Given the description of an element on the screen output the (x, y) to click on. 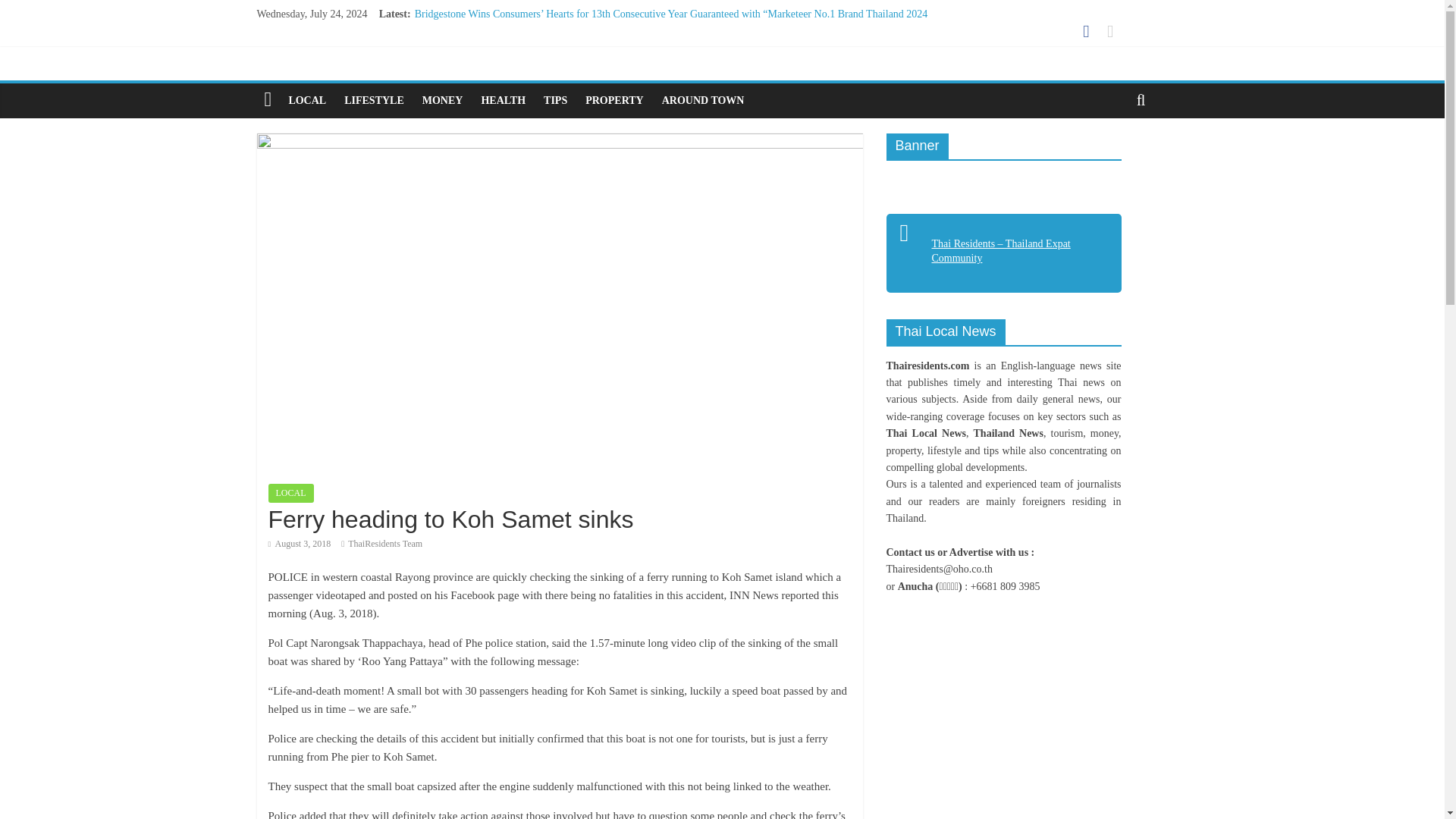
5:03 am (299, 543)
ThaiResidents Team (384, 543)
LOCAL (306, 100)
ThaiResidents Team (384, 543)
PROPERTY (614, 100)
MONEY (442, 100)
HEALTH (502, 100)
TIPS (555, 100)
LIFESTYLE (373, 100)
AROUND TOWN (703, 100)
LOCAL (290, 493)
August 3, 2018 (299, 543)
